Given the description of an element on the screen output the (x, y) to click on. 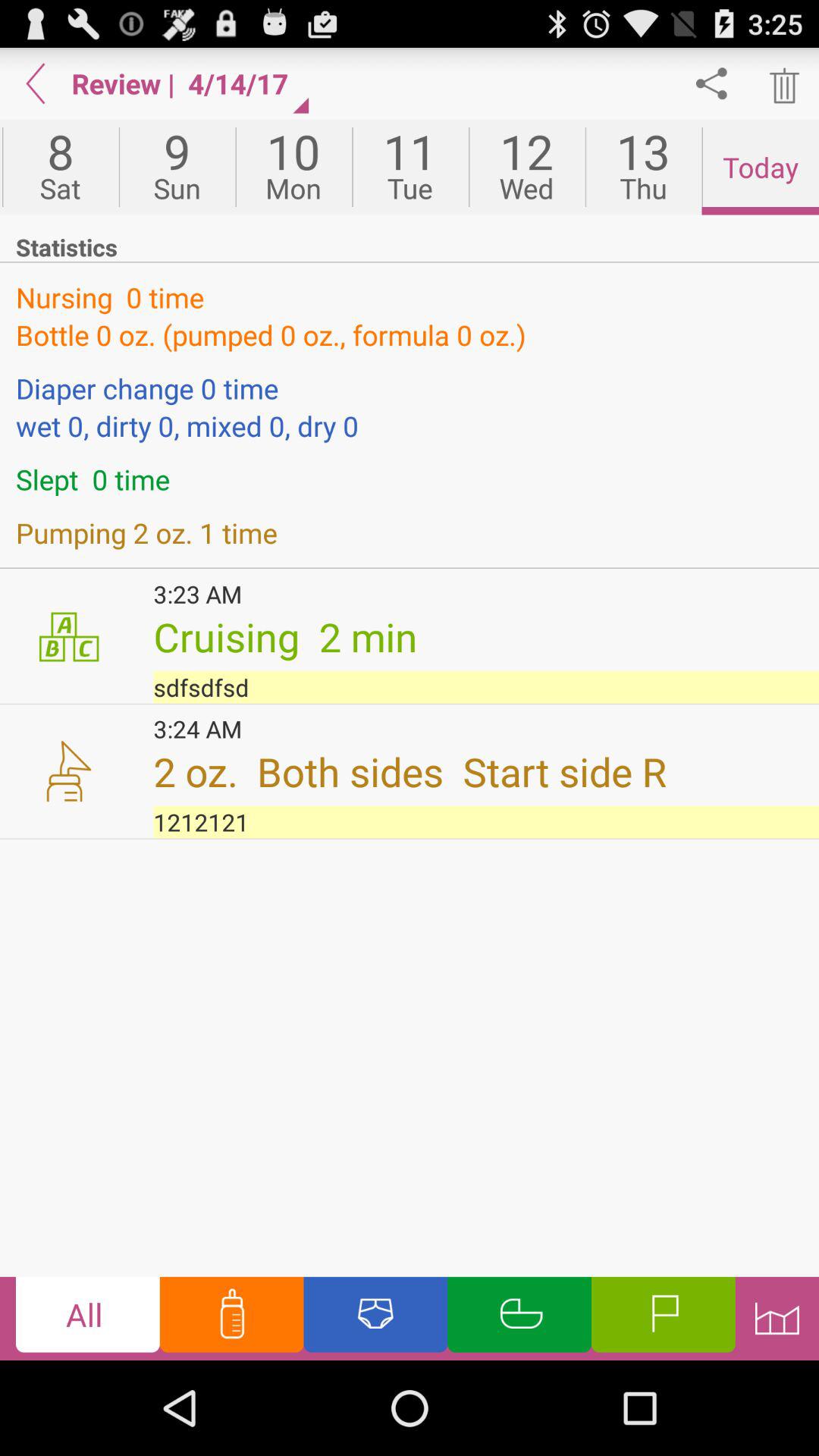
delete (783, 83)
